Given the description of an element on the screen output the (x, y) to click on. 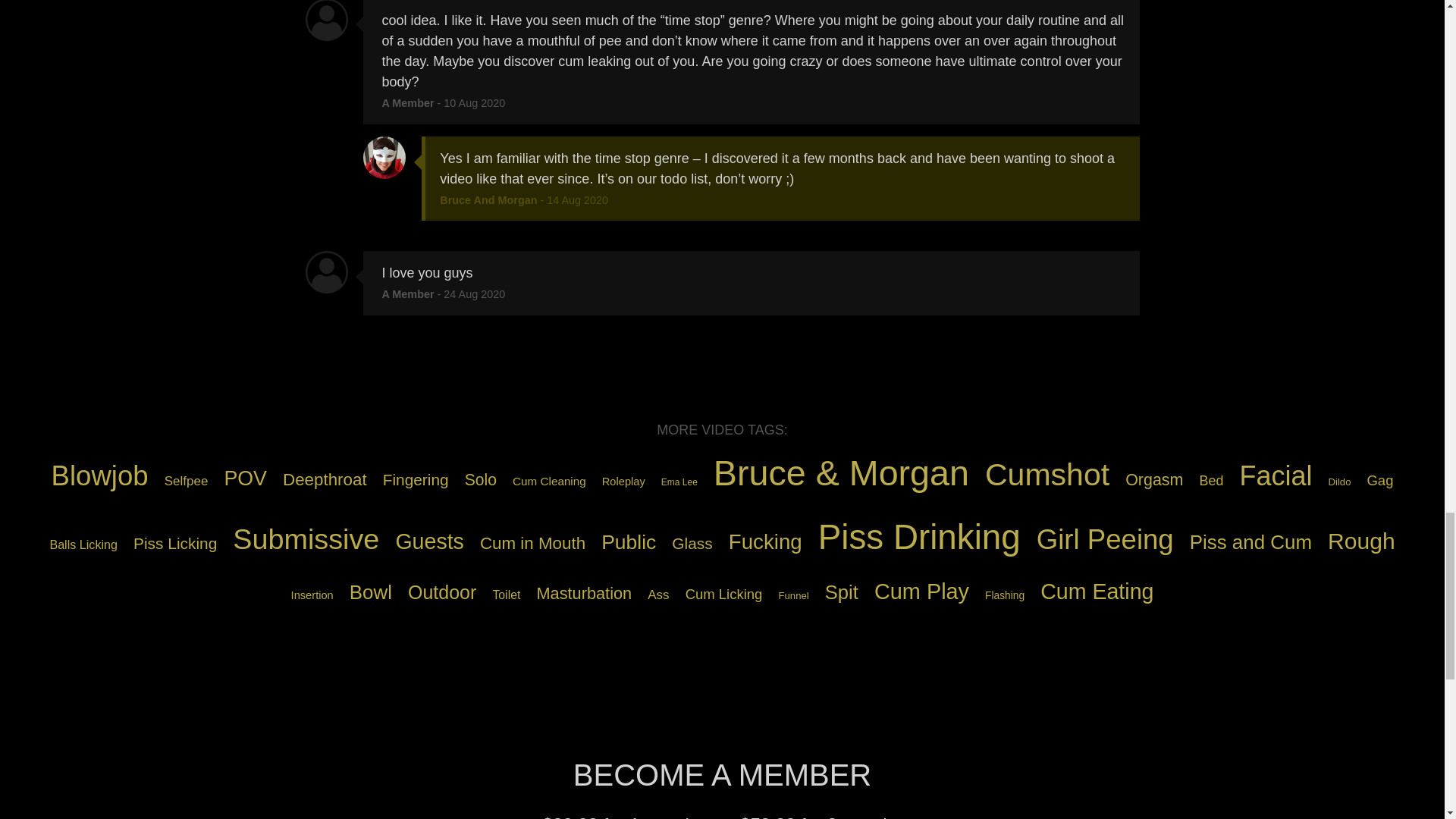
Blowjob (99, 476)
Fingering (415, 479)
Selfpee (186, 481)
POV (244, 478)
Deepthroat (324, 479)
